Given the description of an element on the screen output the (x, y) to click on. 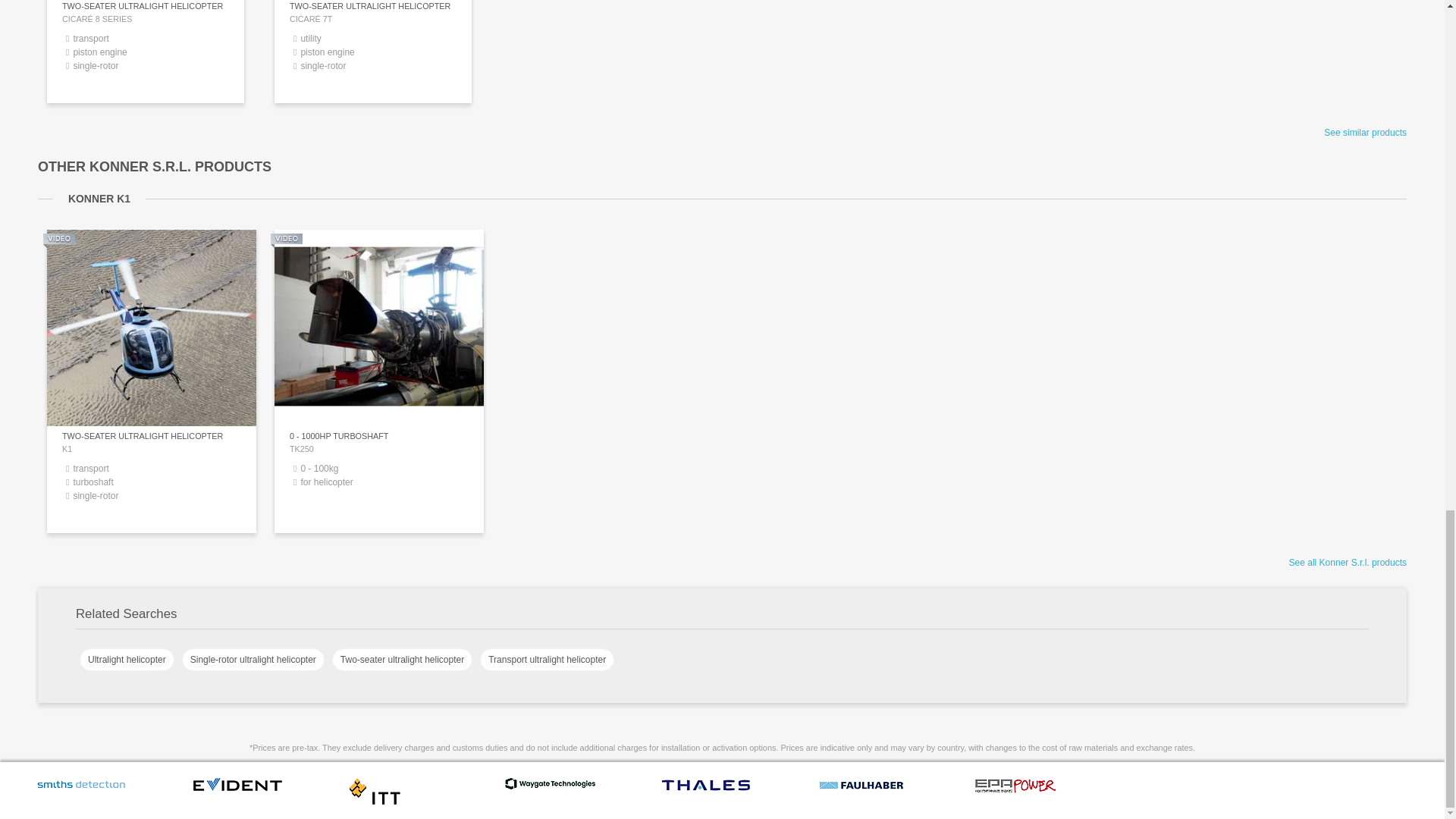
Two-seater ultralight helicopter (401, 659)
FAULHABER Drive Systems (861, 790)
Transport ultralight helicopter (547, 659)
ITT (374, 801)
Evident - Olympus Scientific Solutions (237, 788)
See all Konner S.r.l. products (1347, 562)
Waygate Technologies (550, 787)
EPAPOWER S.R.L. (1015, 791)
See similar products (1364, 132)
SMITHS DETECTION (81, 788)
Single-rotor ultralight helicopter (253, 659)
Ultralight helicopter (127, 659)
Thales Digital Identity and Security (705, 789)
